Given the description of an element on the screen output the (x, y) to click on. 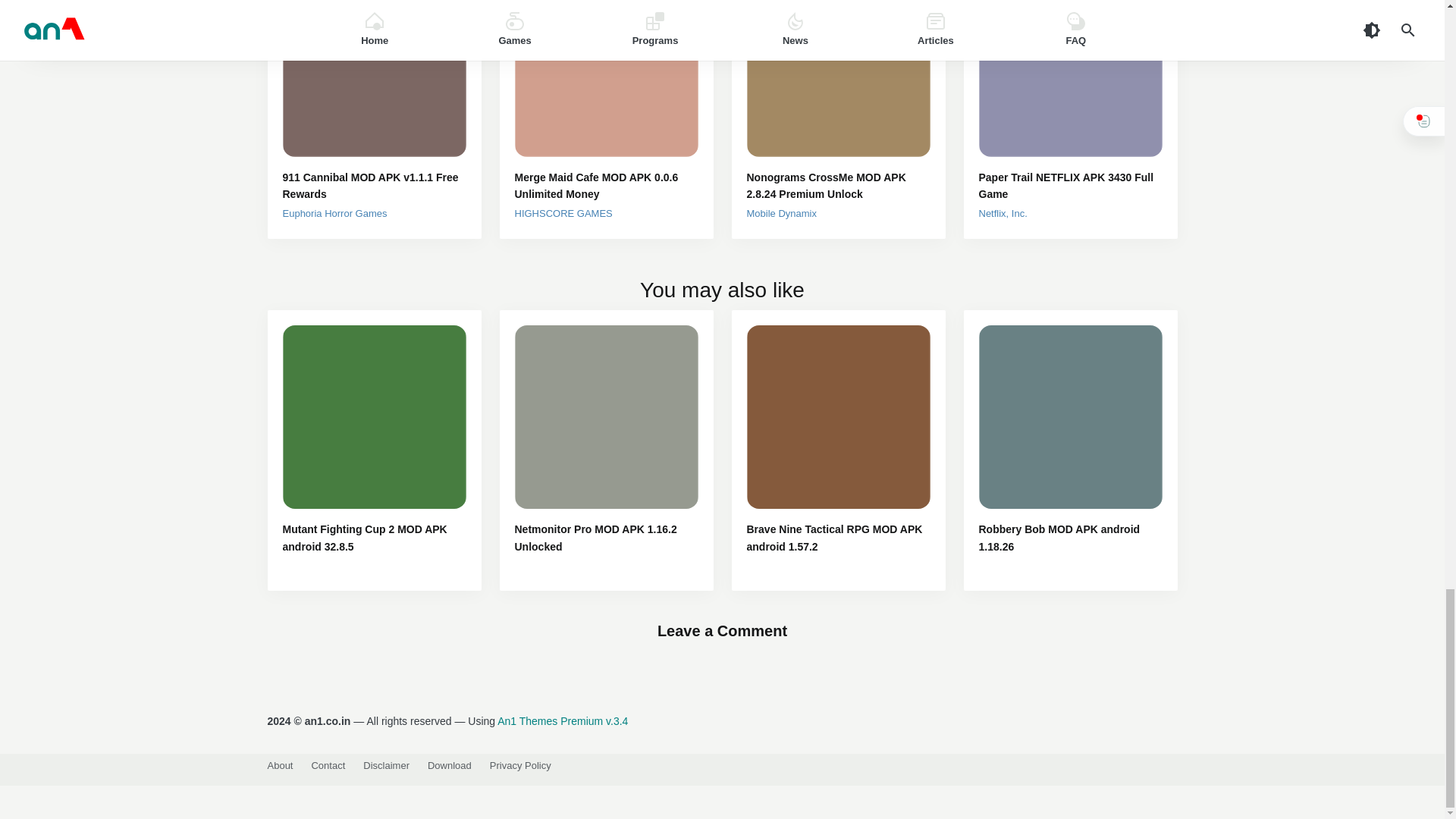
Paper Trail NETFLIX APK 3430 Full Game (1069, 185)
Merge Maid Cafe MOD APK 0.0.6 Unlimited Money (605, 185)
Mutant Fighting Cup 2 MOD APK android 32.8.5 (373, 537)
Nonograms CrossMe MOD APK 2.8.24 Premium Unlock (837, 185)
911 Cannibal MOD APK v1.1.1 Free Rewards (373, 185)
